Given the description of an element on the screen output the (x, y) to click on. 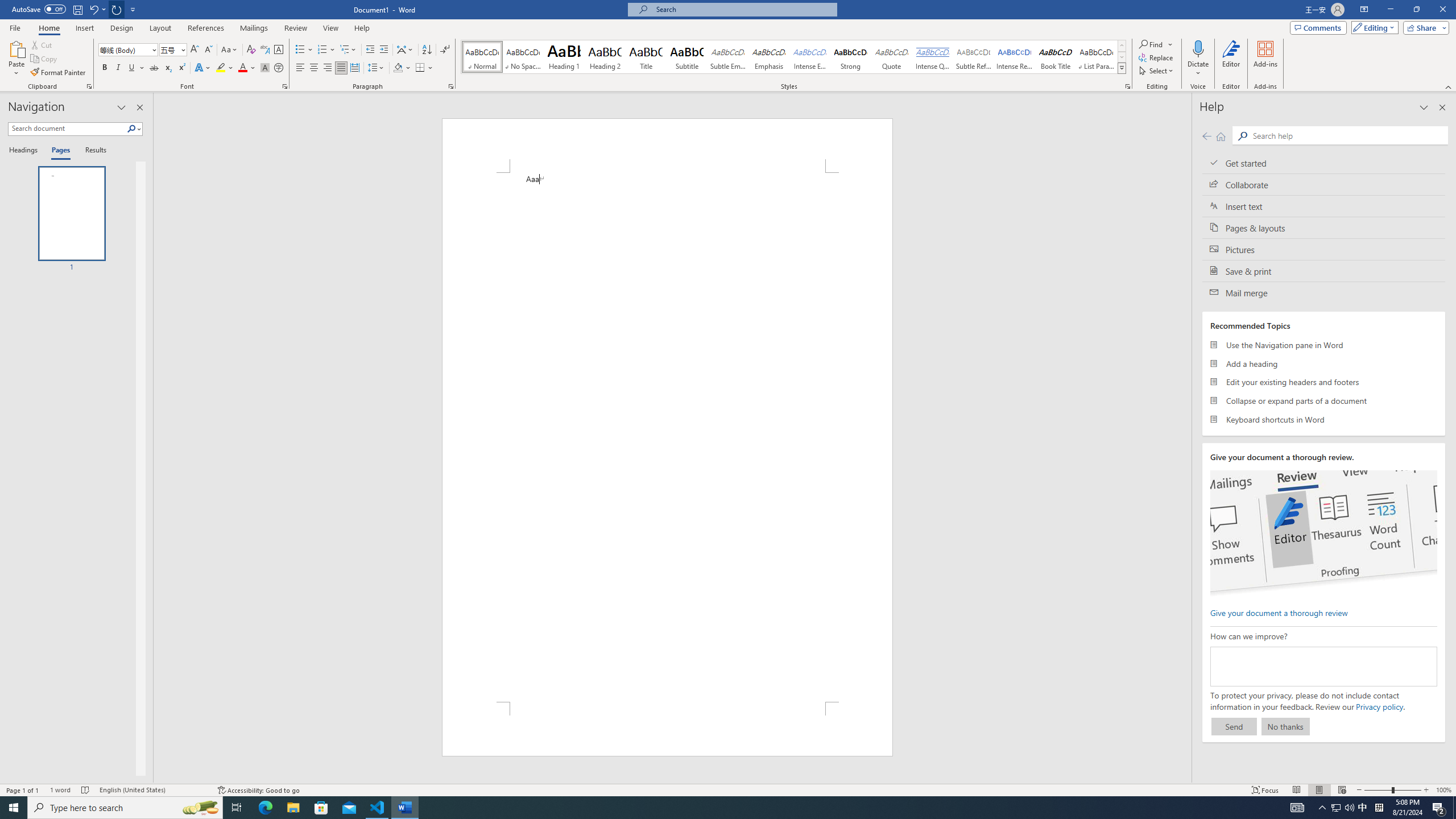
editor ui screenshot (1323, 533)
Save & print (1323, 270)
Page Number Page 1 of 1 (22, 790)
Zoom 100% (1443, 790)
Page 1 content (667, 436)
